Given the description of an element on the screen output the (x, y) to click on. 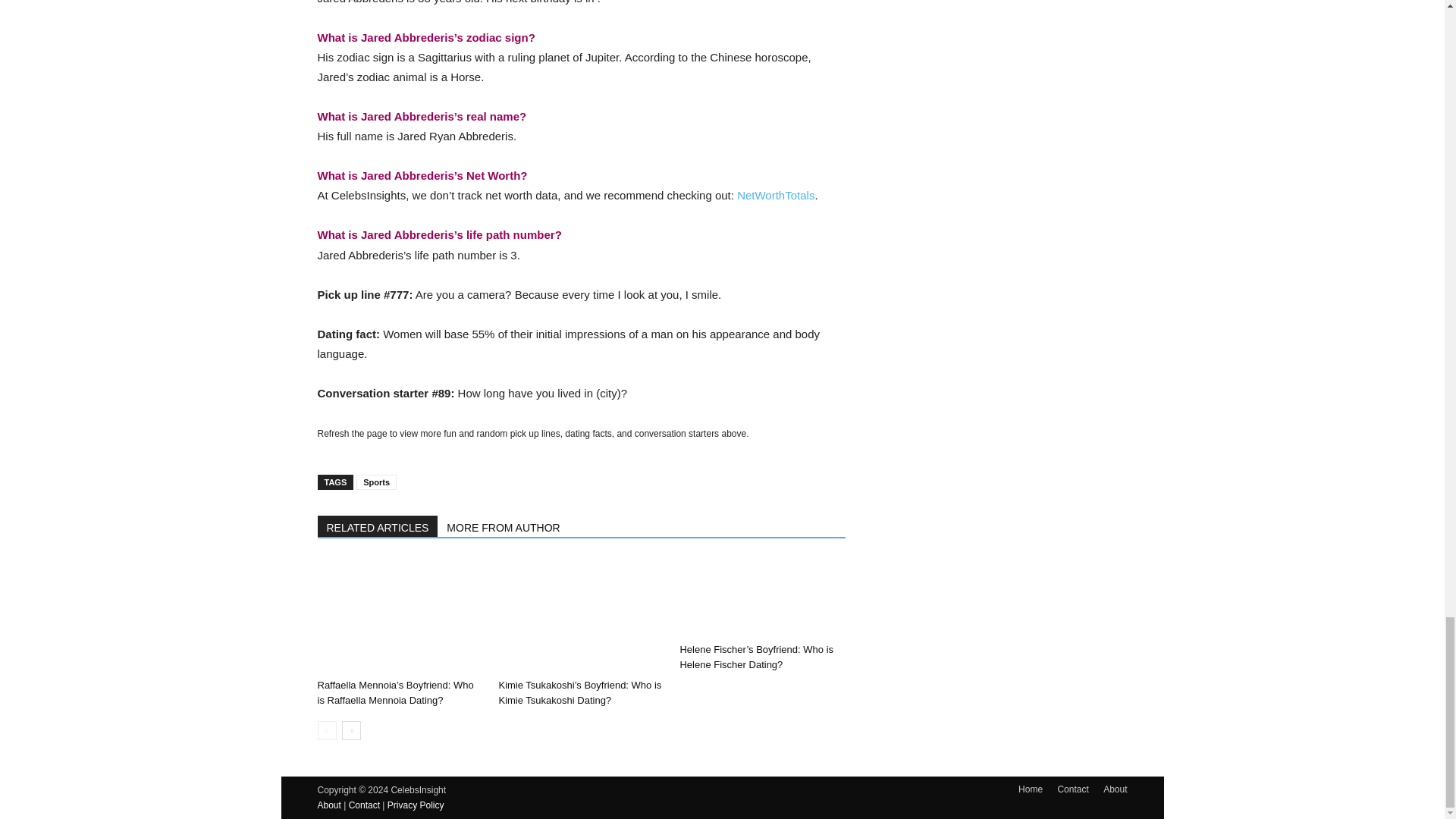
Privacy Policy (415, 805)
Sports (376, 482)
Contact (364, 805)
RELATED ARTICLES (377, 526)
About (1114, 789)
Home (1029, 789)
MORE FROM AUTHOR (503, 526)
Contact (1072, 789)
Jared Abbrederis net worth status (774, 195)
NetWorthTotals (774, 195)
